Given the description of an element on the screen output the (x, y) to click on. 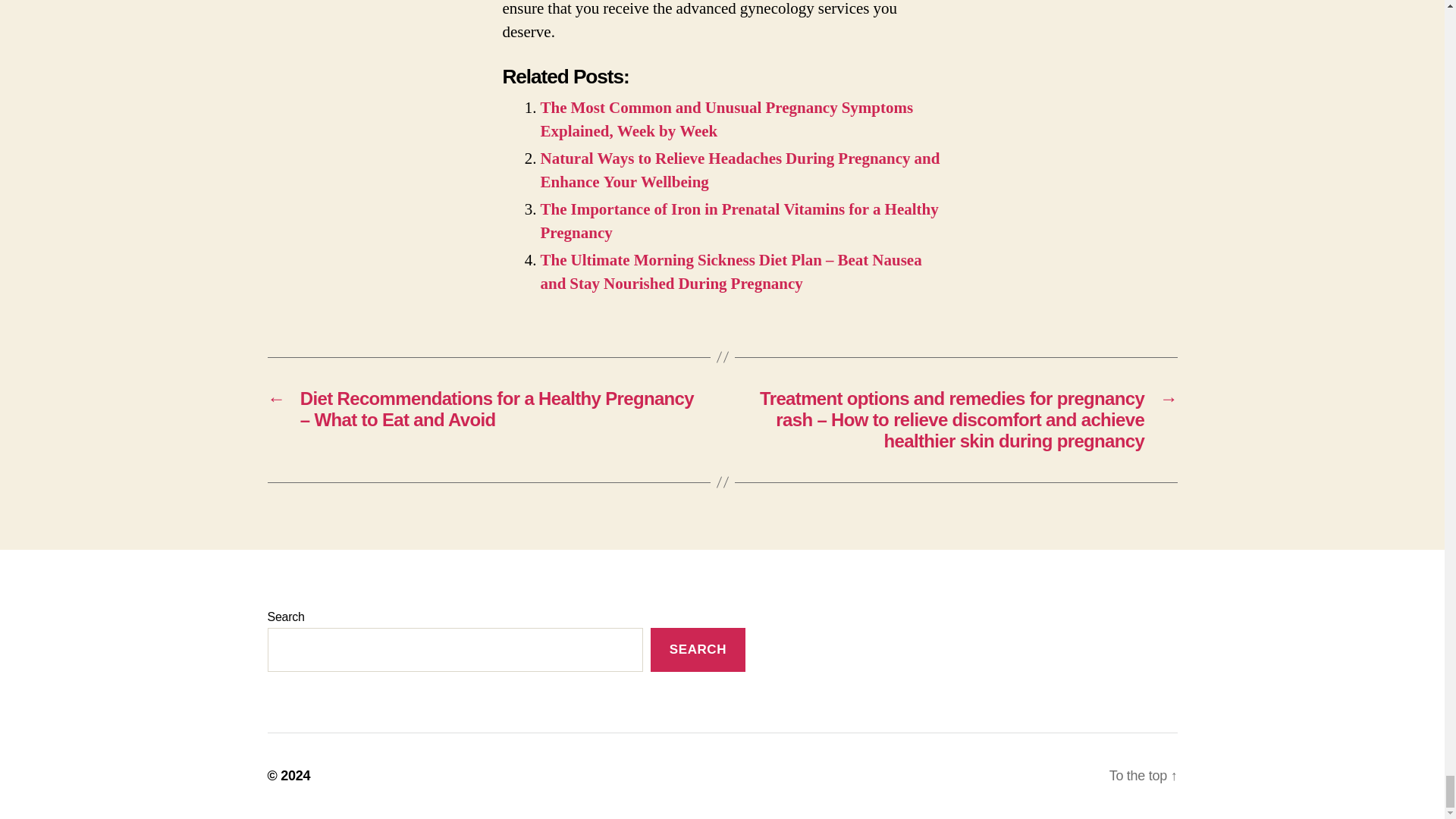
SEARCH (697, 650)
